Given the description of an element on the screen output the (x, y) to click on. 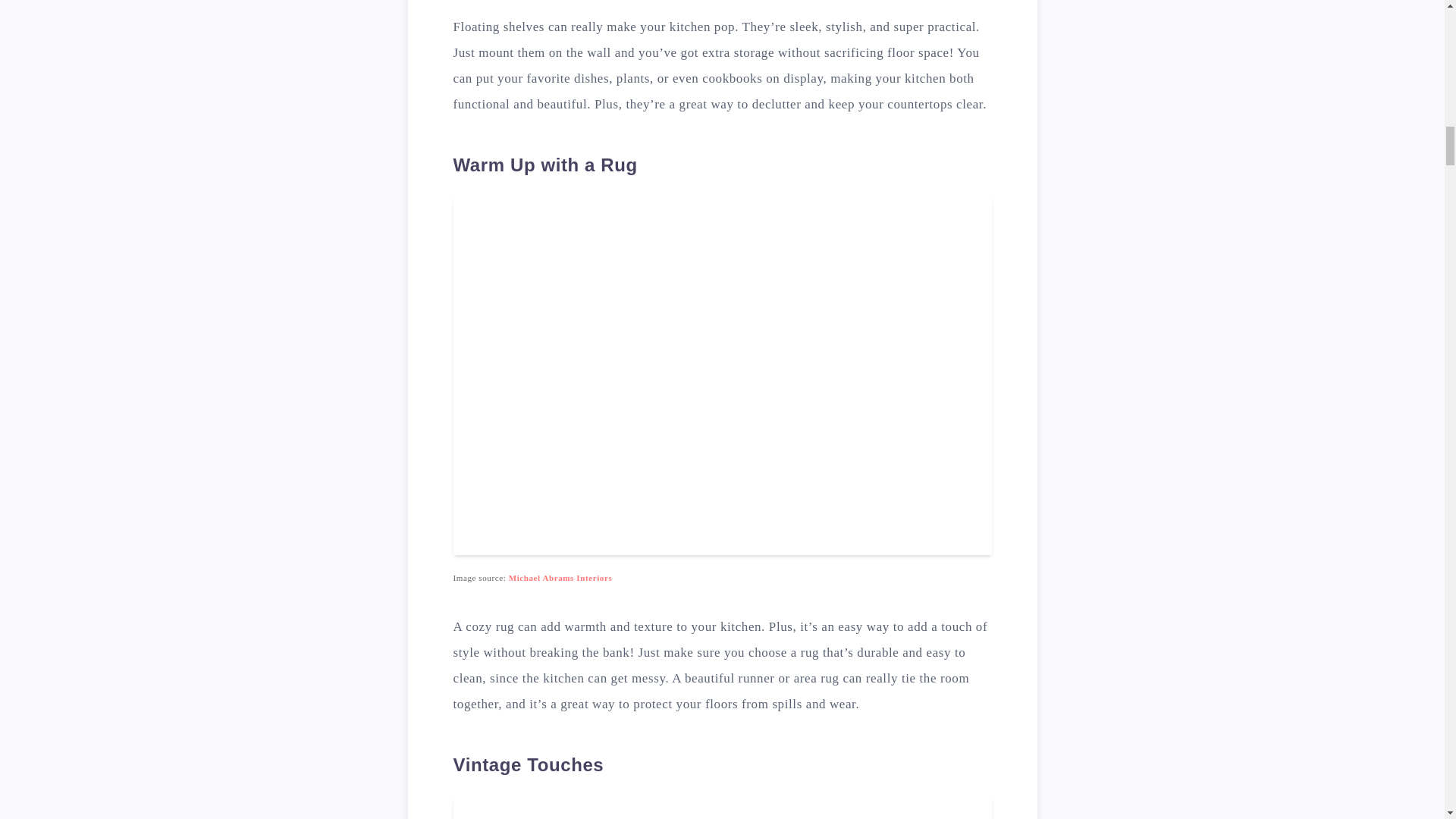
Michael Abrams Interiors (560, 577)
